Given the description of an element on the screen output the (x, y) to click on. 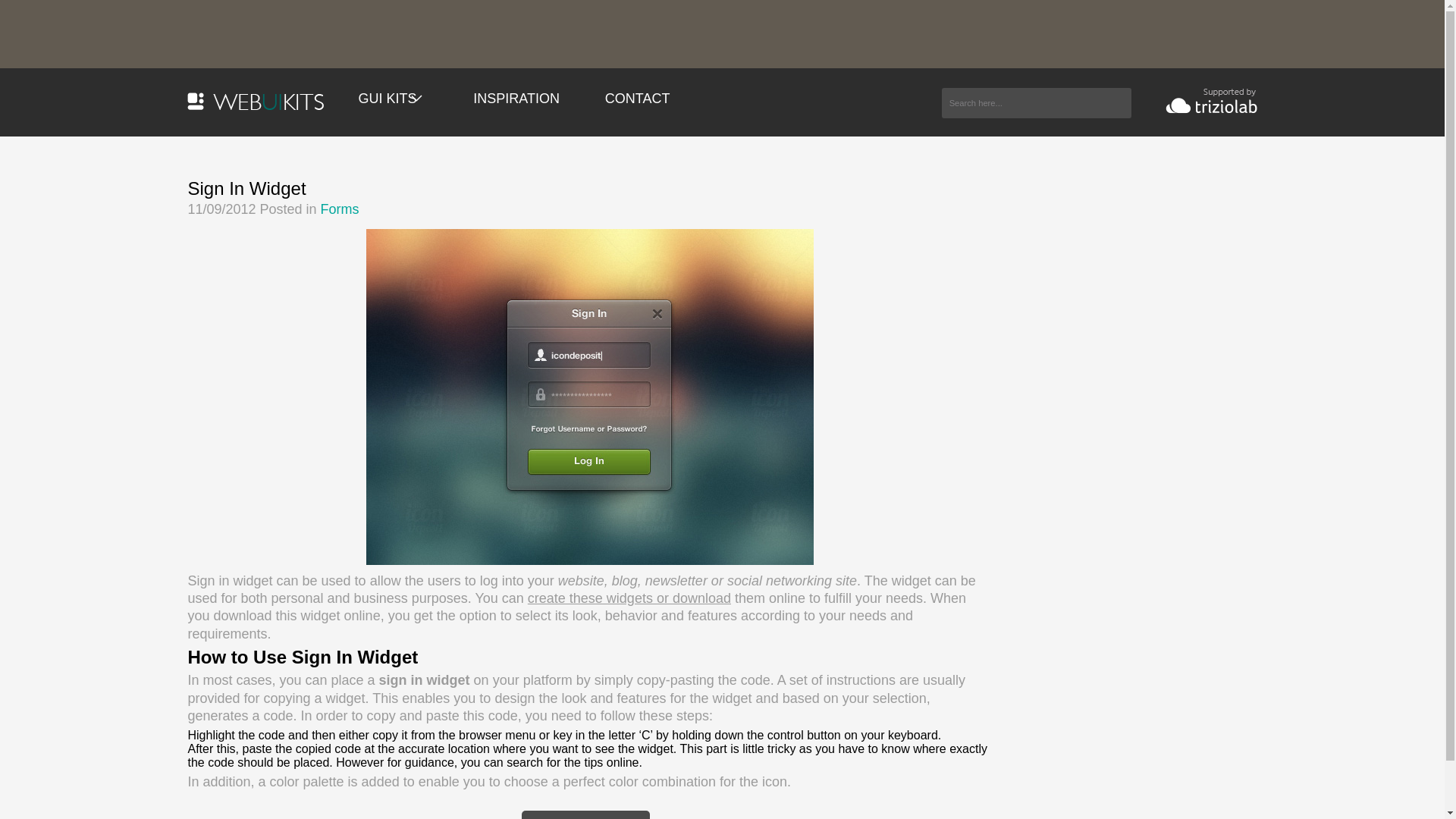
CONTACT (637, 98)
INSPIRATION (516, 98)
GUI KITS (393, 98)
